Given the description of an element on the screen output the (x, y) to click on. 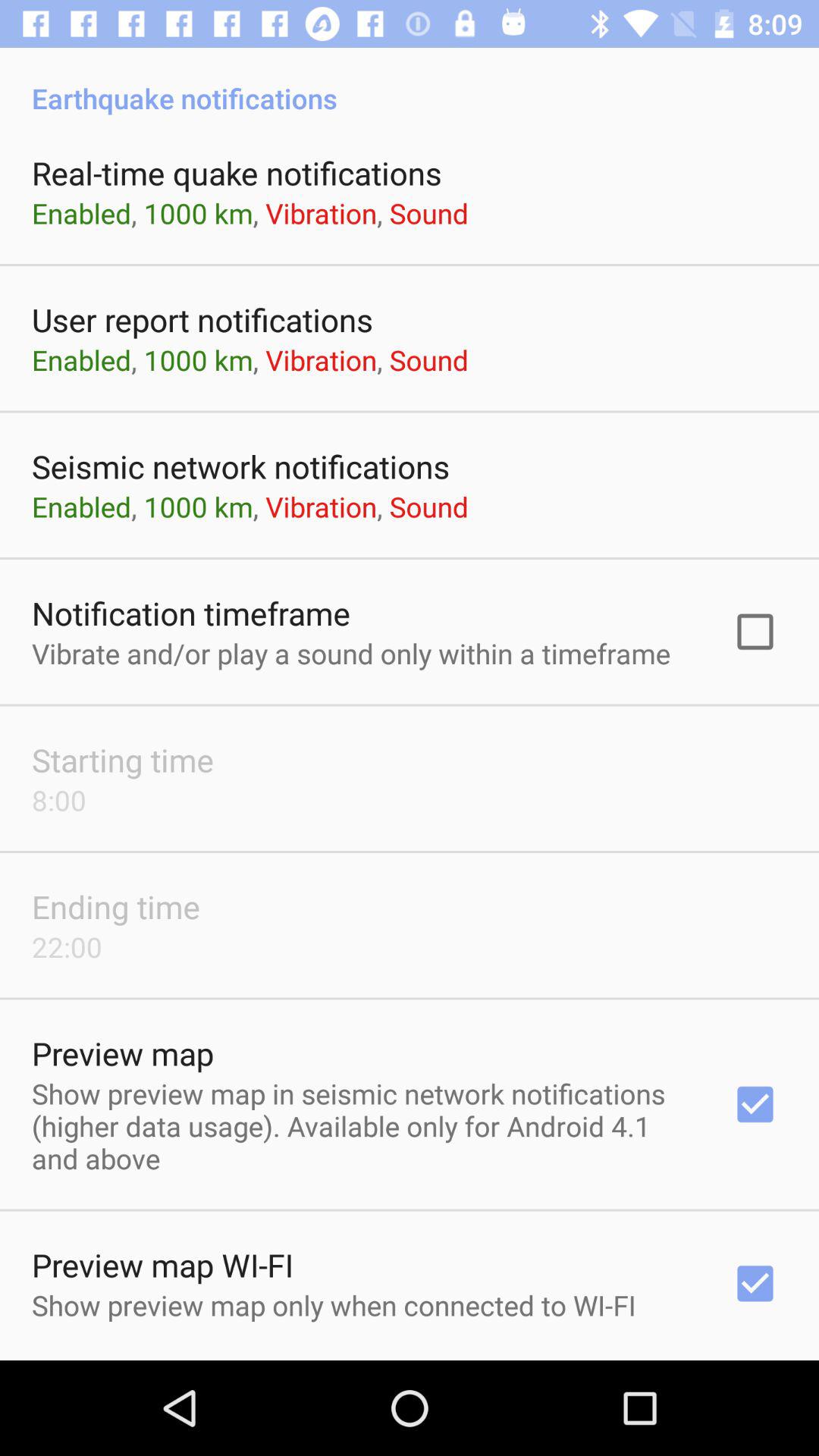
choose item above vibrate and or icon (190, 612)
